Given the description of an element on the screen output the (x, y) to click on. 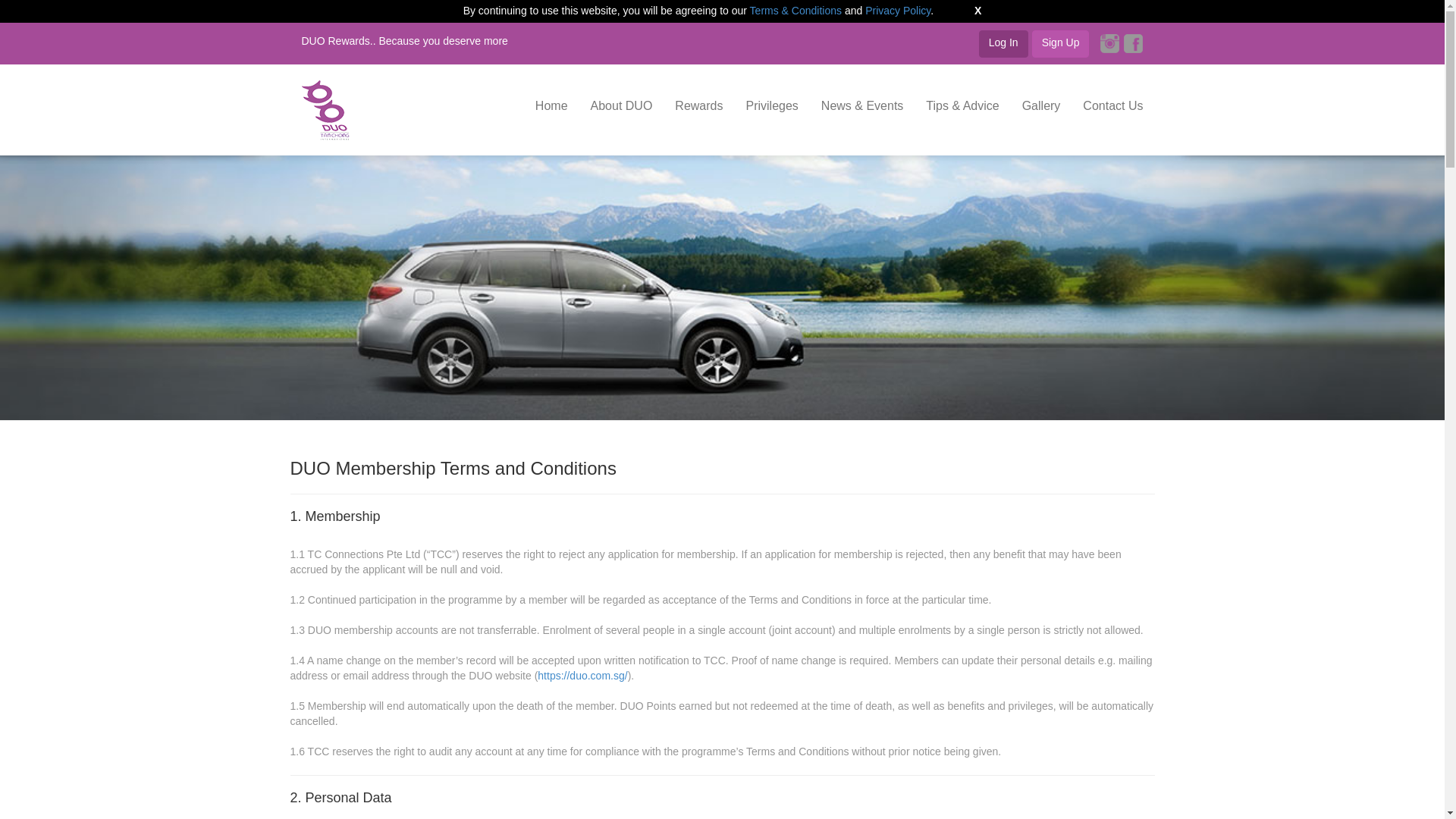
Home (551, 105)
Rewards (698, 105)
Log In (1002, 43)
About DUO (621, 105)
Gallery (1040, 105)
Contact Us (1112, 105)
Privacy Policy (897, 10)
Privileges (771, 105)
Sign Up (1060, 43)
